Given the description of an element on the screen output the (x, y) to click on. 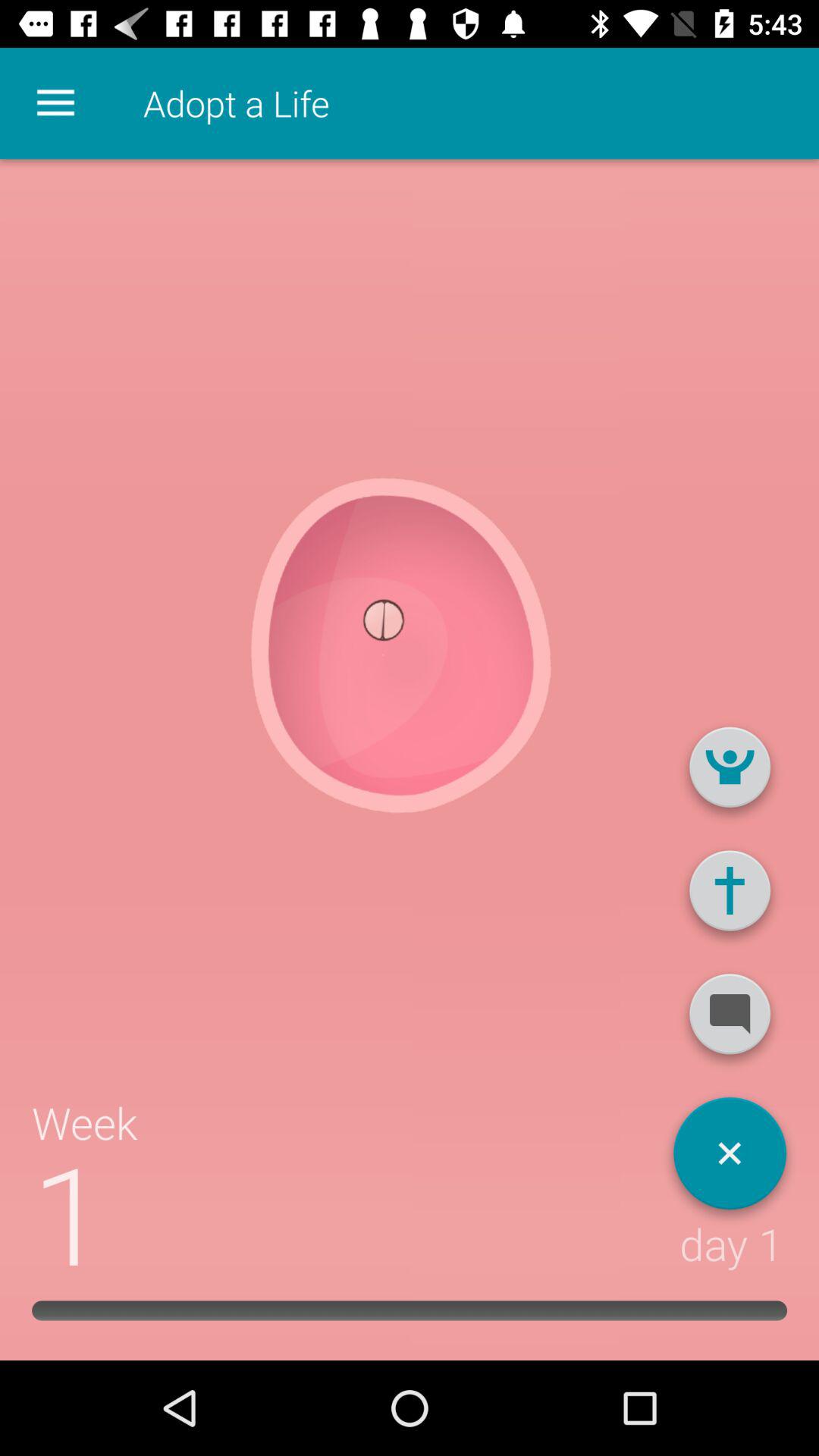
close (729, 1159)
